Given the description of an element on the screen output the (x, y) to click on. 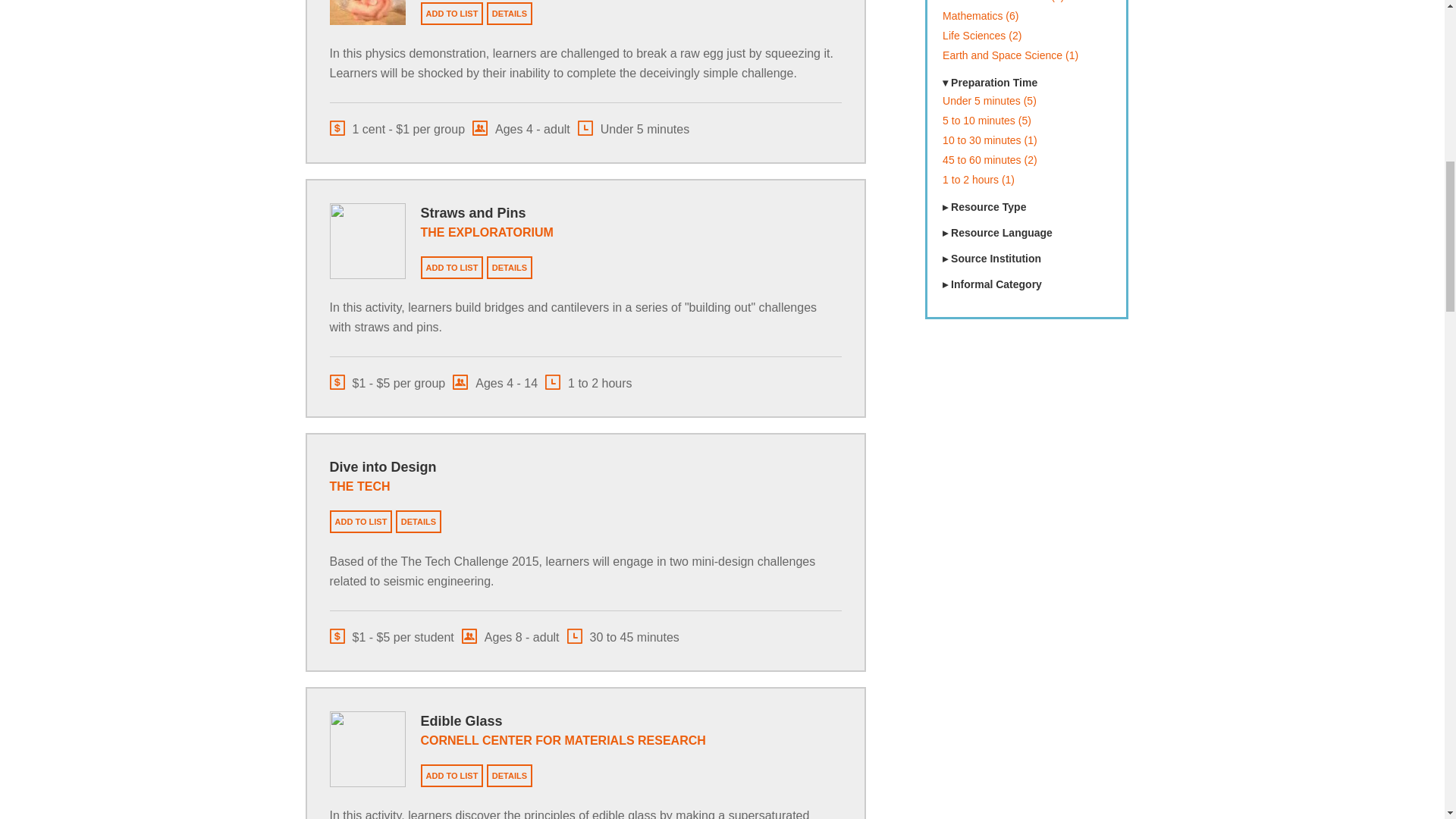
Estimated materials cost (396, 127)
Age range (510, 635)
THE TECH (359, 486)
Learning time (587, 381)
DETAILS (418, 521)
ADD TO LIST (451, 775)
THE EXPLORATORIUM (486, 232)
Estimated materials cost (387, 381)
Learning time (633, 127)
Age range (494, 381)
